Given the description of an element on the screen output the (x, y) to click on. 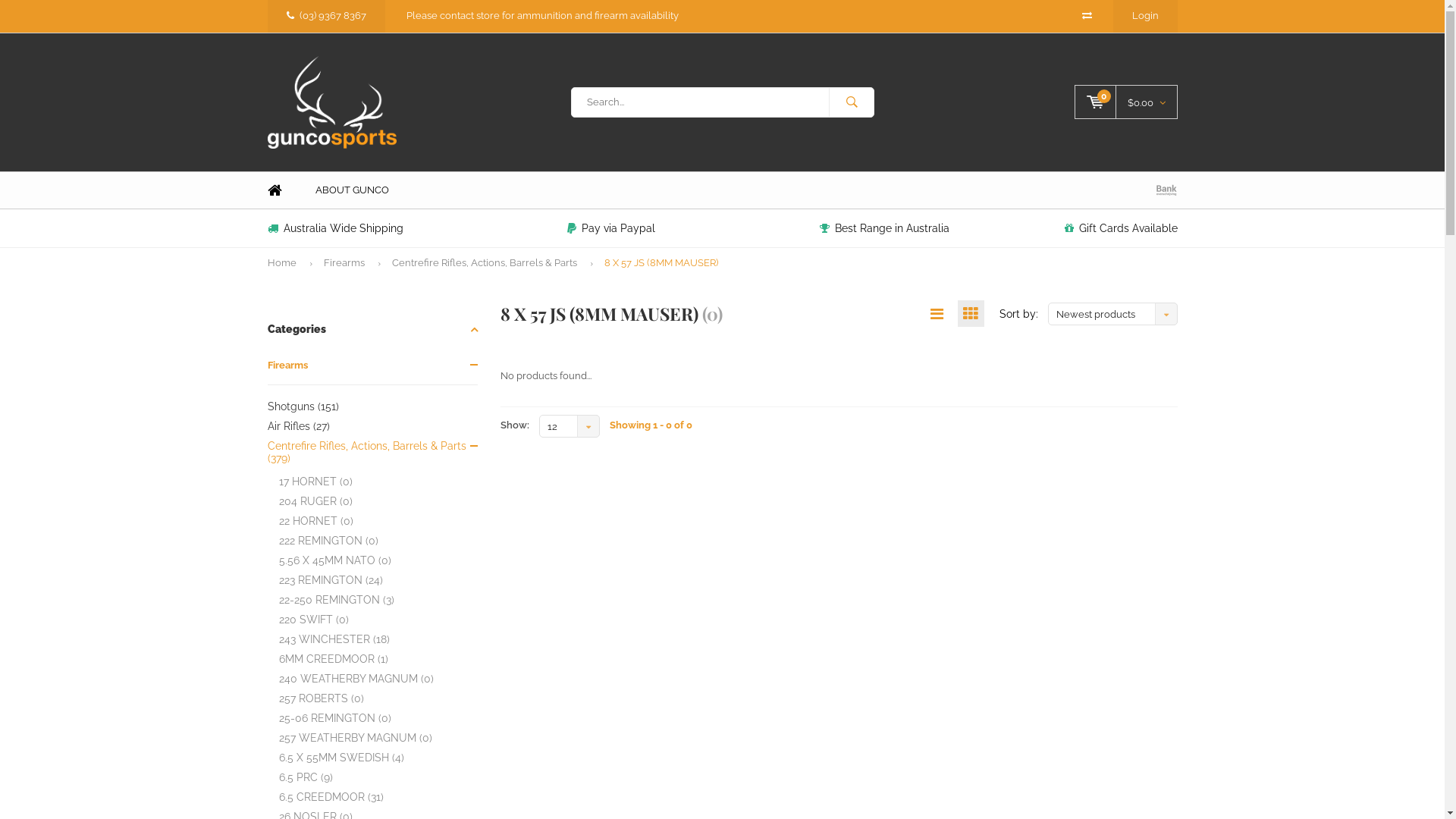
HOME Element type: text (274, 190)
17 HORNET (0) Element type: text (378, 481)
Search Element type: hover (850, 102)
Compare Element type: hover (1086, 15)
6.5 X 55MM SWEDISH (4) Element type: text (378, 757)
257 ROBERTS (0) Element type: text (378, 698)
6.5 PRC (9) Element type: text (378, 777)
25-06 REMINGTON (0) Element type: text (378, 718)
220 SWIFT (0) Element type: text (378, 619)
223 REMINGTON (24) Element type: text (378, 579)
Firearms Element type: text (371, 365)
Login Element type: text (1144, 15)
Centrefire Rifles, Actions, Barrels & Parts Element type: text (483, 263)
240 WEATHERBY MAGNUM (0) Element type: text (378, 678)
Firearms Element type: text (343, 263)
Shotguns (151) Element type: text (371, 406)
8 X 57 JS (8MM MAUSER) Element type: text (660, 263)
Home Element type: text (280, 263)
257 WEATHERBY MAGNUM (0) Element type: text (378, 737)
243 WINCHESTER (18) Element type: text (378, 639)
5.56 X 45MM NATO (0) Element type: text (378, 560)
Centrefire Rifles, Actions, Barrels & Parts (379) Element type: text (371, 451)
22-250 REMINGTON (3) Element type: text (378, 599)
ABOUT GUNCO Element type: text (352, 190)
222 REMINGTON (0) Element type: text (378, 540)
204 RUGER (0) Element type: text (378, 501)
6.5 CREEDMOOR (31) Element type: text (378, 796)
Air Rifles (27) Element type: text (371, 426)
(03) 9367 8367 Element type: text (326, 15)
6MM CREEDMOOR (1) Element type: text (378, 658)
22 HORNET (0) Element type: text (378, 520)
